Given the description of an element on the screen output the (x, y) to click on. 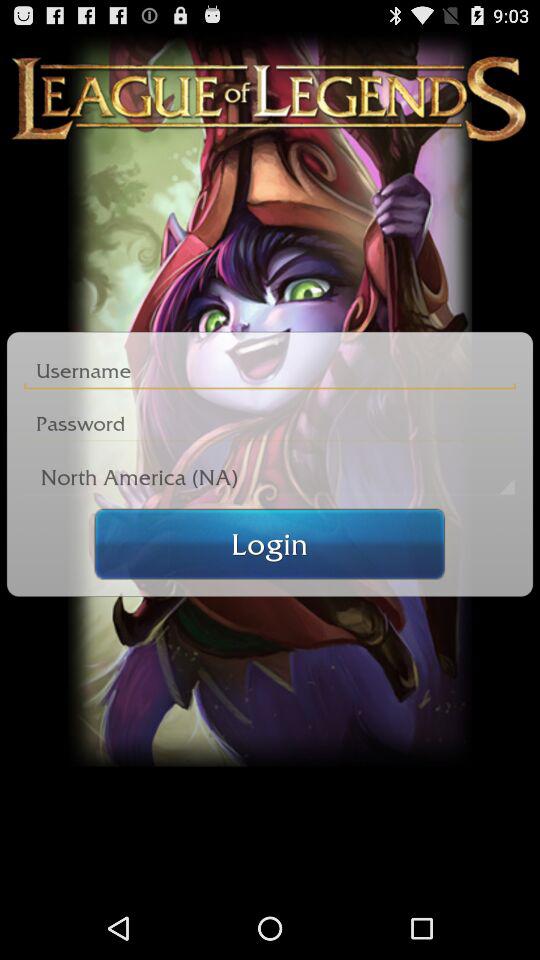
input username field (269, 370)
